Given the description of an element on the screen output the (x, y) to click on. 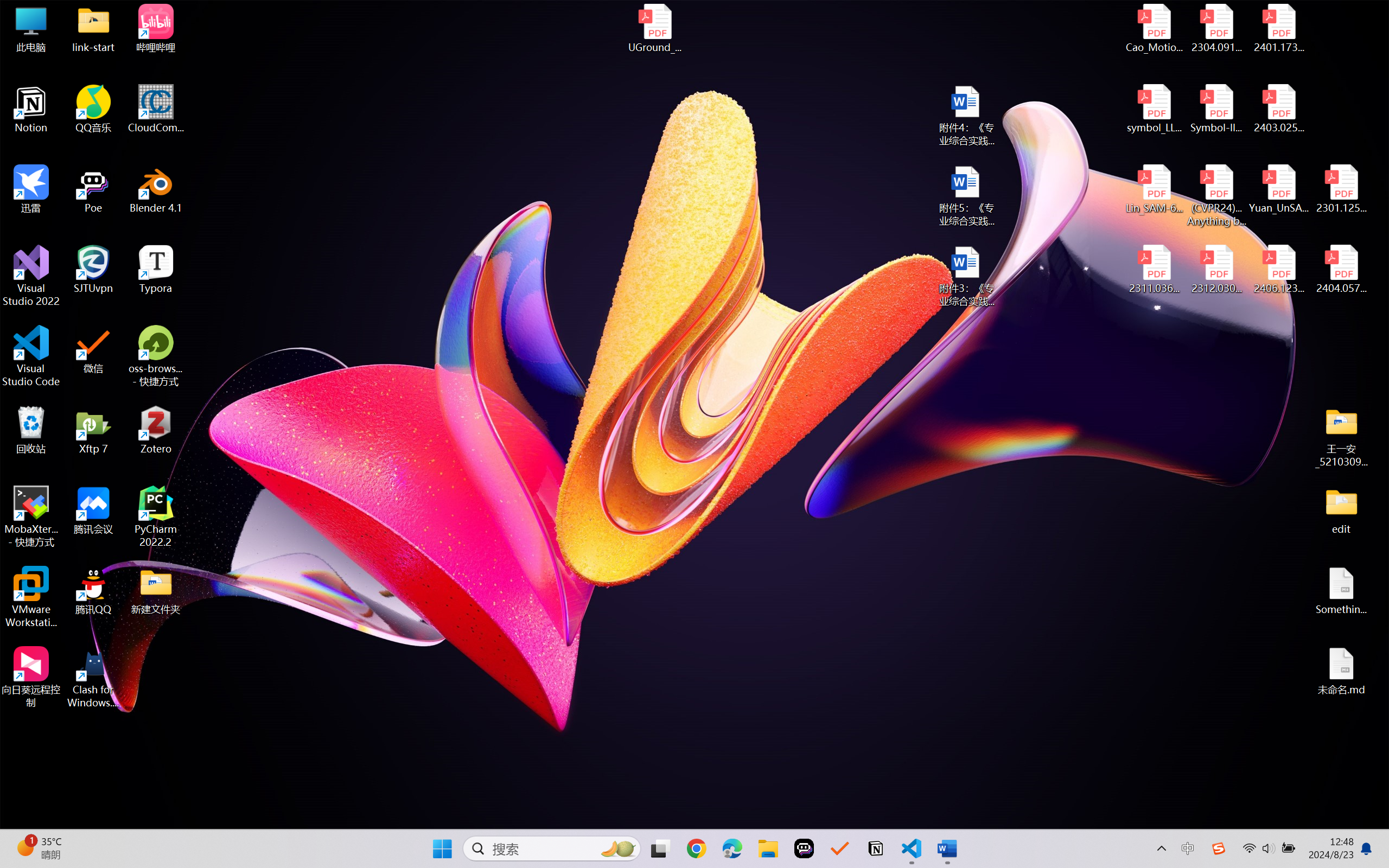
Xftp 7 (93, 430)
2401.17399v1.pdf (1278, 28)
2301.12597v3.pdf (1340, 189)
CloudCompare (156, 109)
Something.md (1340, 591)
2304.09121v3.pdf (1216, 28)
Visual Studio Code (31, 355)
